Given the description of an element on the screen output the (x, y) to click on. 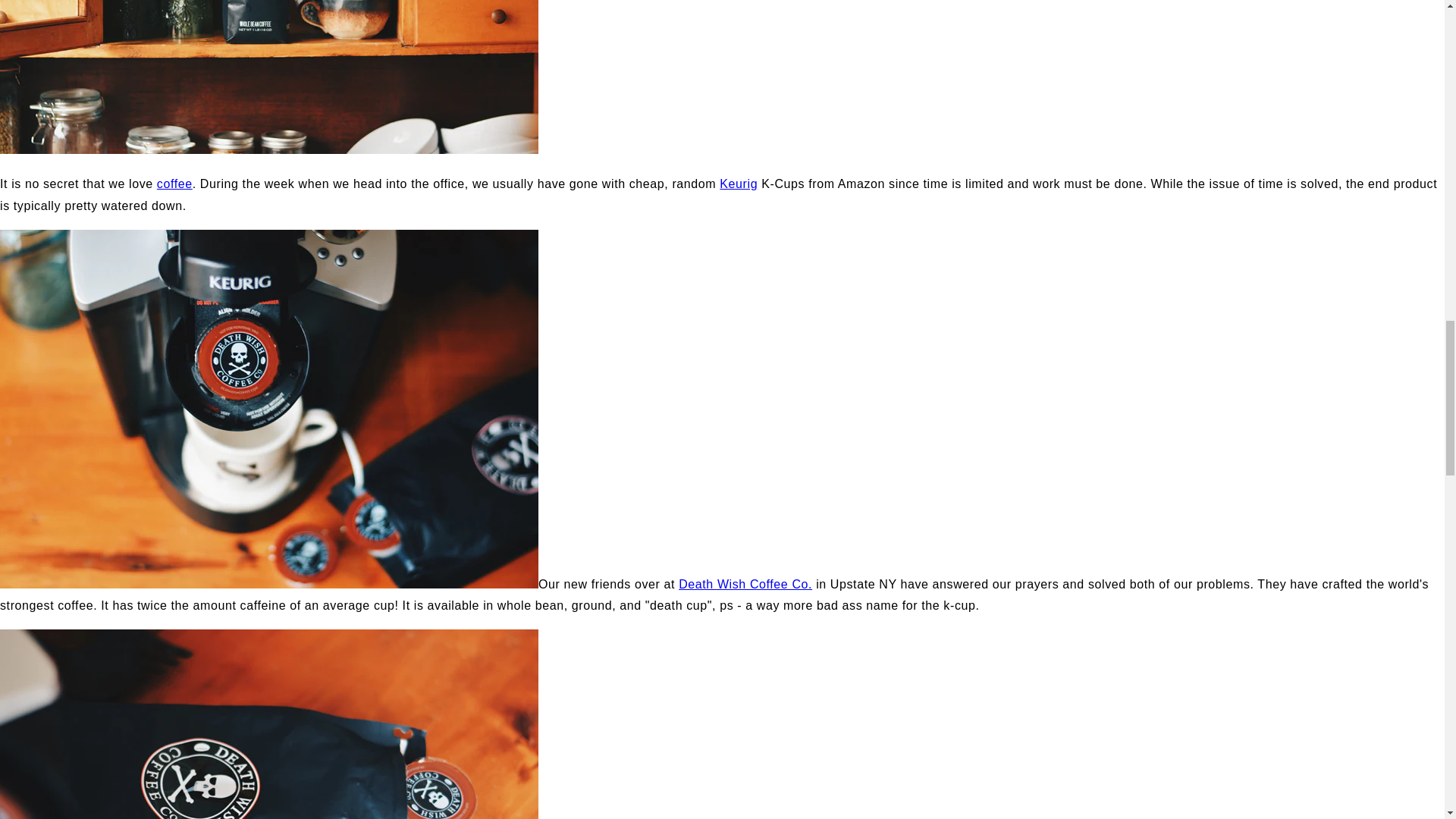
Death Wish Coffee Co World's Strongest Coffee (745, 584)
Keurig K-Cup Coffee Brewing Machine  (738, 183)
Pyknic Best Coffee T-shirts, Coffee Tees, Coffee Gifts (174, 183)
